Given the description of an element on the screen output the (x, y) to click on. 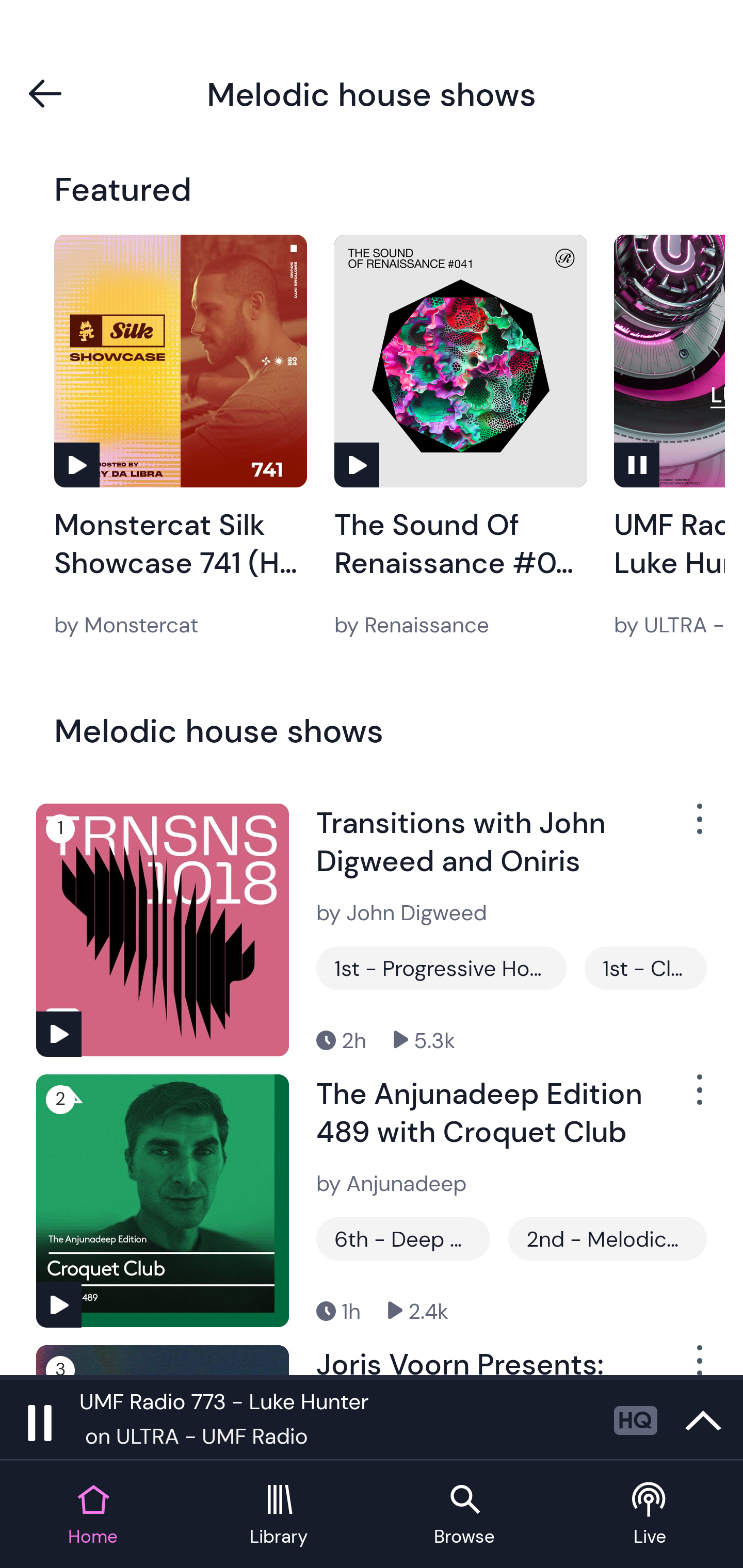
Show Options Menu Button (697, 825)
1st - Progressive House (441, 968)
1st - Club (645, 968)
Show Options Menu Button (697, 1097)
6th - Deep House (403, 1238)
2nd - Melodic House (607, 1238)
Show Options Menu Button (697, 1360)
Home tab Home (92, 1515)
Library tab Library (278, 1515)
Browse tab Browse (464, 1515)
Live tab Live (650, 1515)
